Given the description of an element on the screen output the (x, y) to click on. 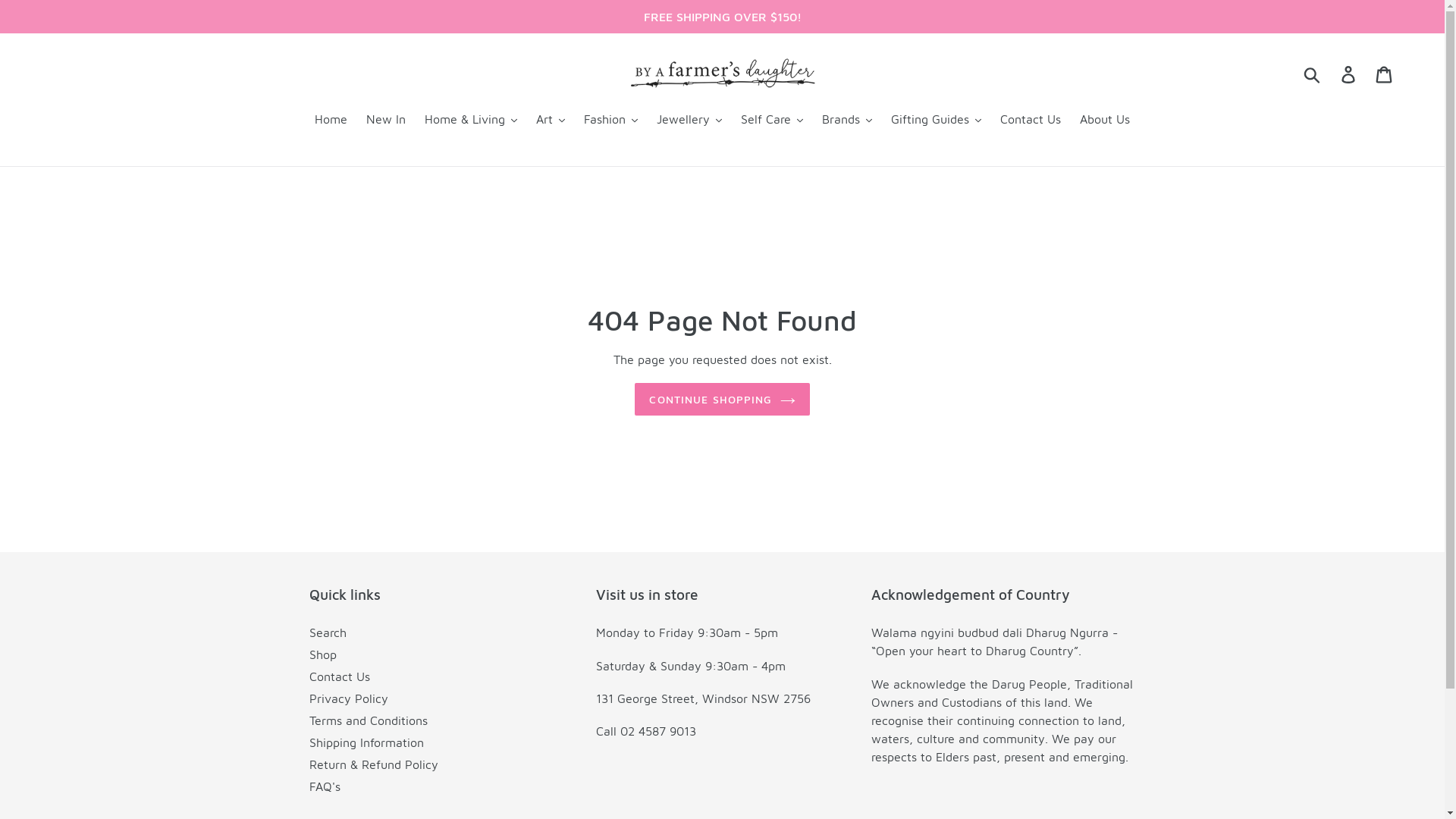
Shop Element type: text (322, 654)
Home Element type: text (330, 119)
Search Element type: text (327, 632)
Log in Element type: text (1349, 73)
FREE SHIPPING OVER $150! Element type: text (722, 16)
New In Element type: text (385, 119)
Terms and Conditions Element type: text (368, 720)
Return & Refund Policy Element type: text (373, 764)
About Us Element type: text (1104, 119)
Shipping Information Element type: text (366, 742)
FAQ's Element type: text (324, 786)
Cart Element type: text (1384, 73)
Contact Us Element type: text (339, 676)
Submit Element type: text (1312, 73)
Contact Us Element type: text (1030, 119)
CONTINUE SHOPPING Element type: text (721, 398)
Privacy Policy Element type: text (348, 698)
